Given the description of an element on the screen output the (x, y) to click on. 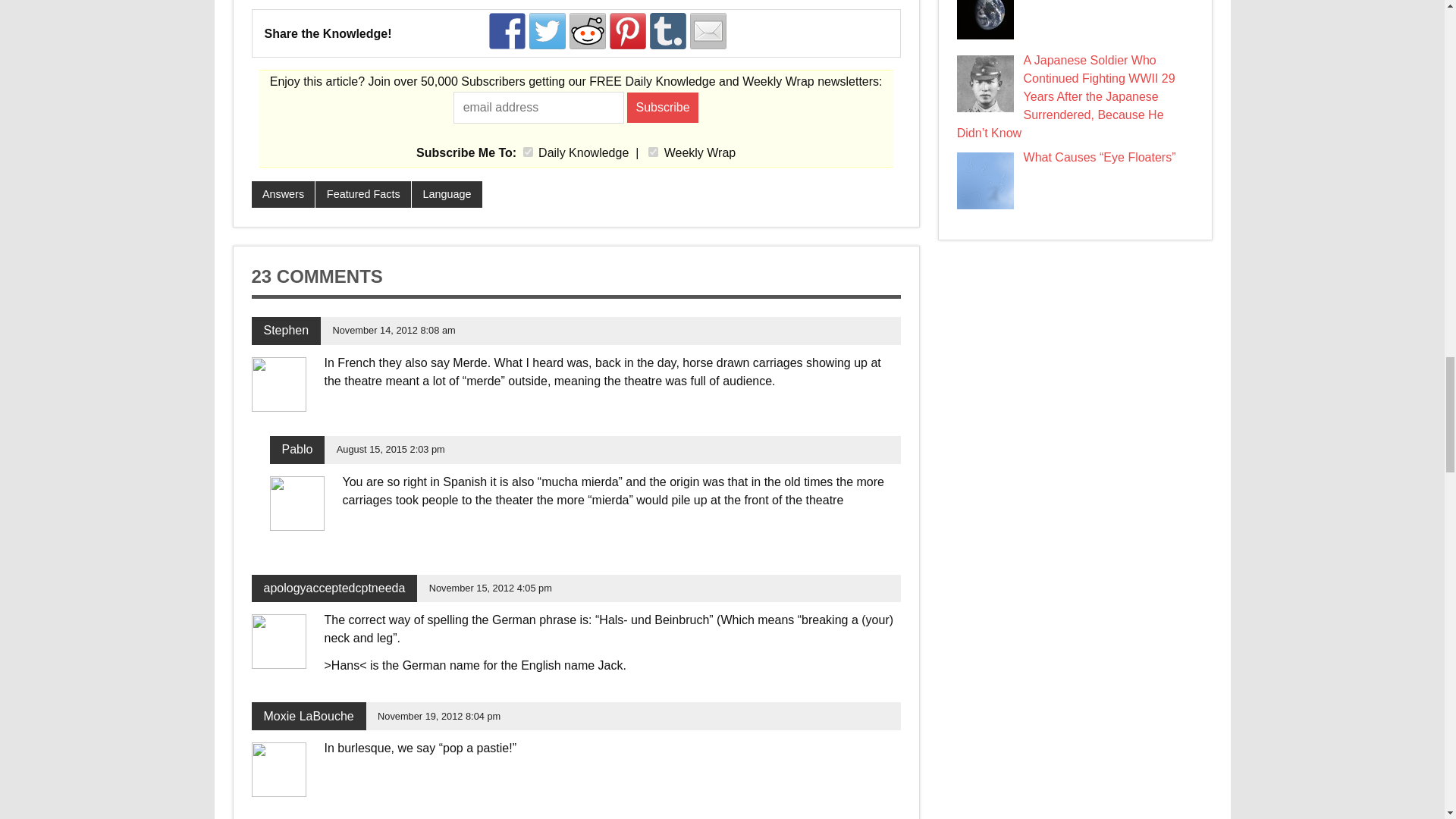
Subscribe (662, 107)
1 (527, 152)
2 (652, 152)
